Given the description of an element on the screen output the (x, y) to click on. 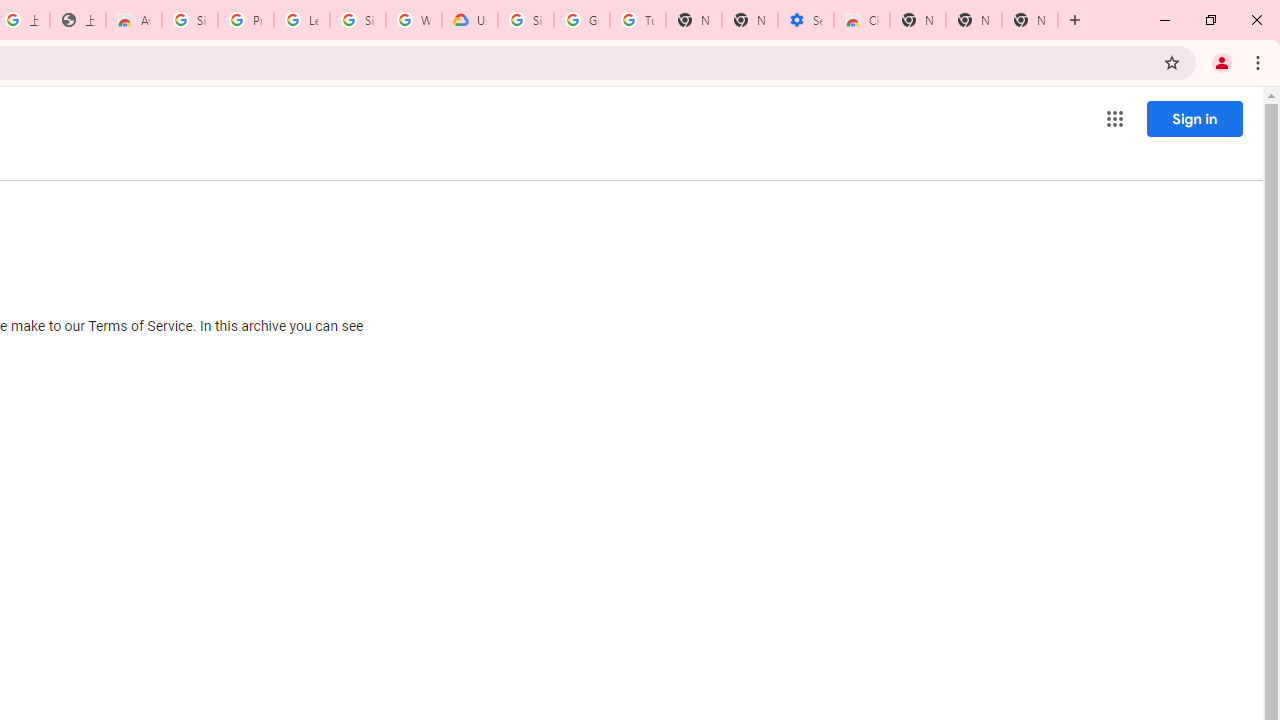
Settings - Accessibility (806, 20)
New Tab (917, 20)
Google Account Help (582, 20)
